Given the description of an element on the screen output the (x, y) to click on. 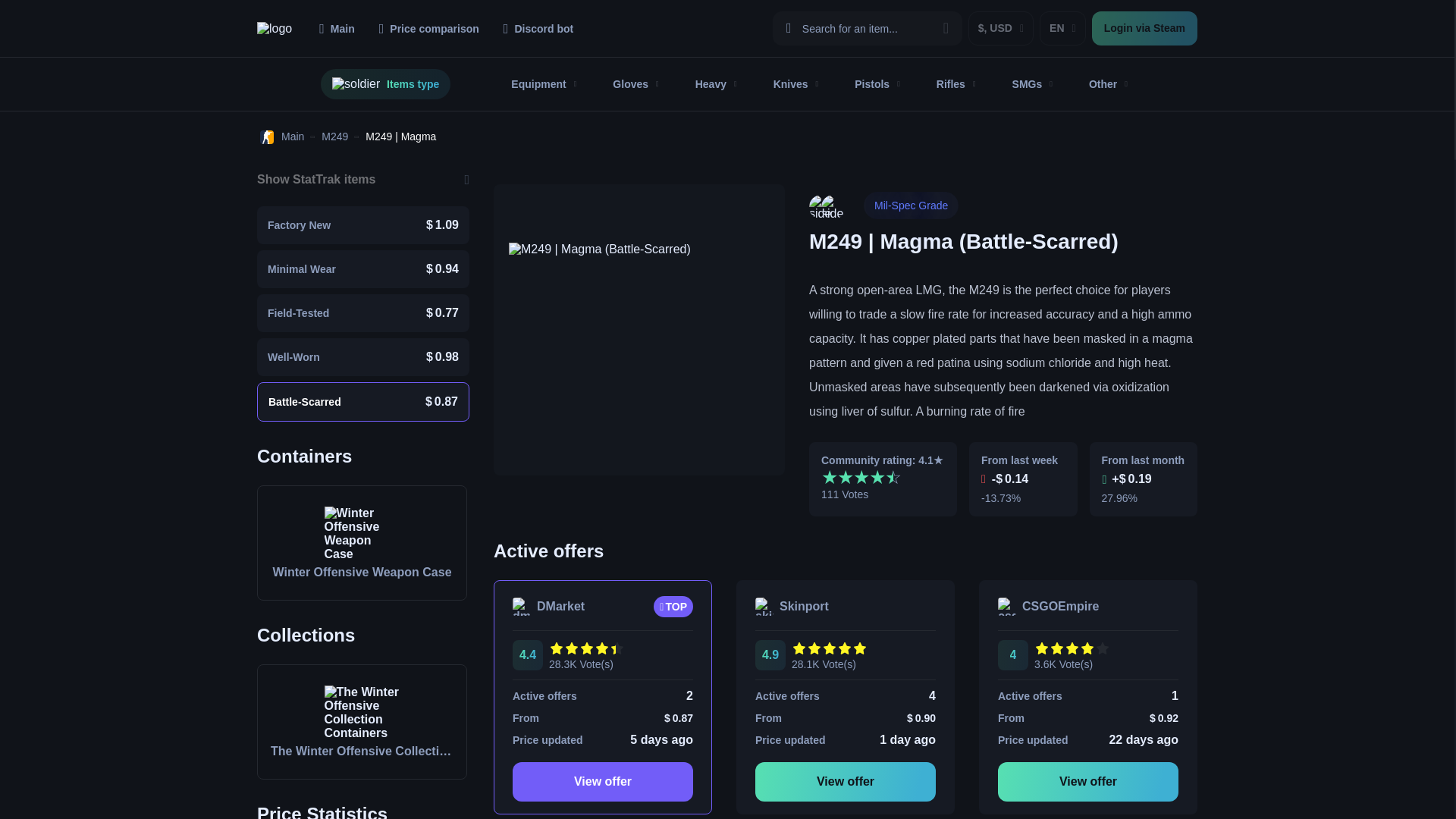
, USD (1000, 28)
Equipment (543, 83)
Discord bot (538, 27)
Price comparison (429, 27)
Login via Steam (1144, 28)
EN (1062, 28)
Gloves (635, 83)
Main (336, 27)
